Given the description of an element on the screen output the (x, y) to click on. 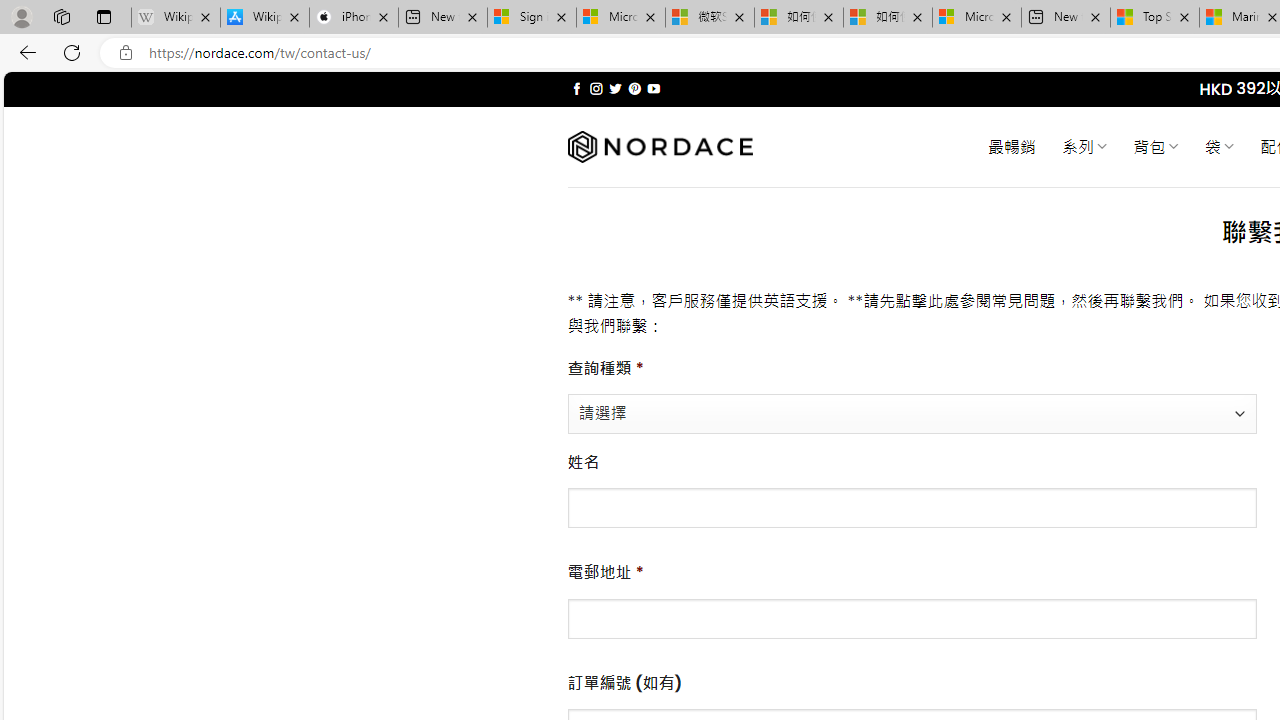
Top Stories - MSN (1155, 17)
Follow on Twitter (615, 88)
Microsoft account | Account Checkup (977, 17)
